Given the description of an element on the screen output the (x, y) to click on. 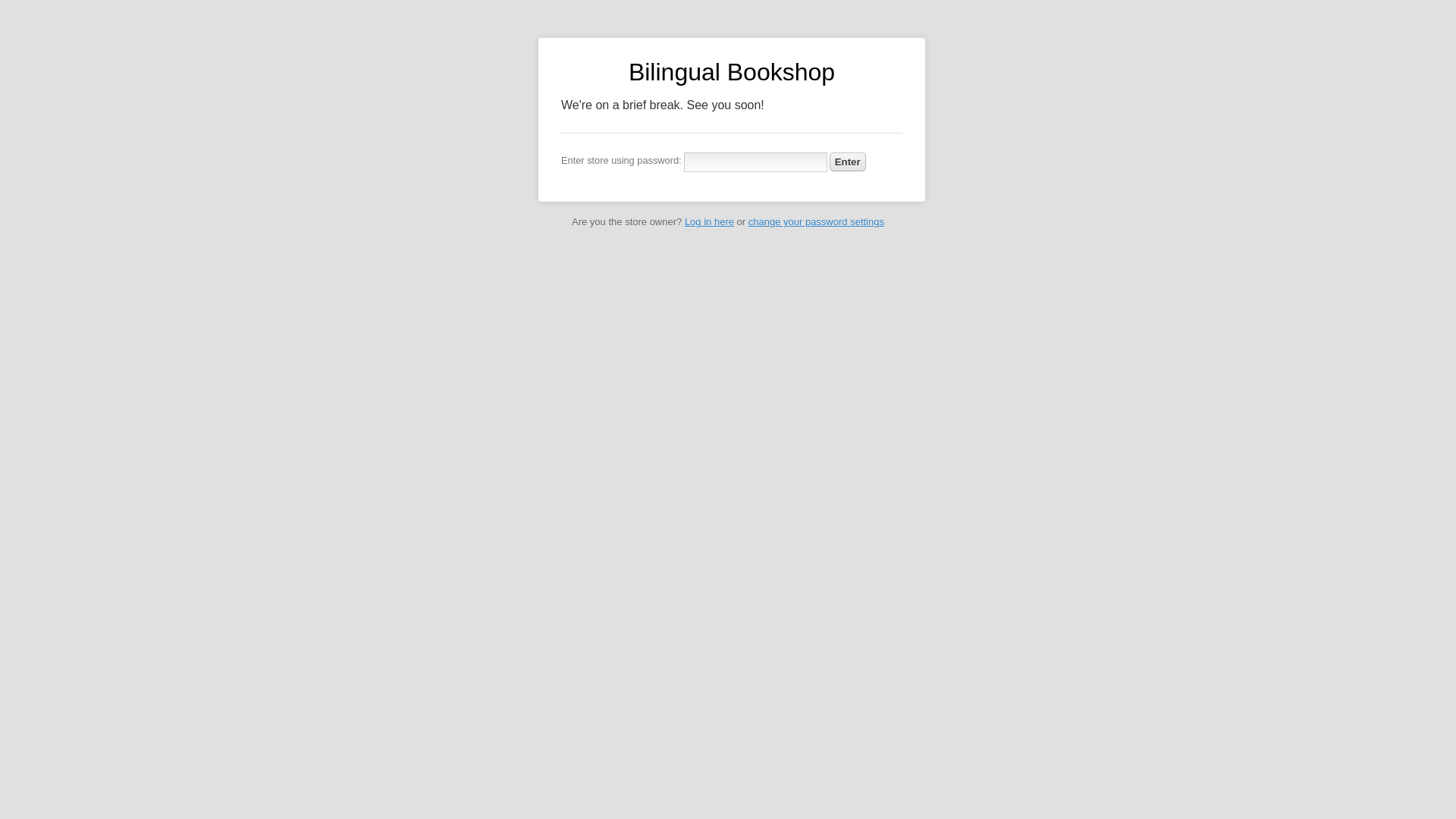
Enter (847, 161)
Enter (847, 161)
